Given the description of an element on the screen output the (x, y) to click on. 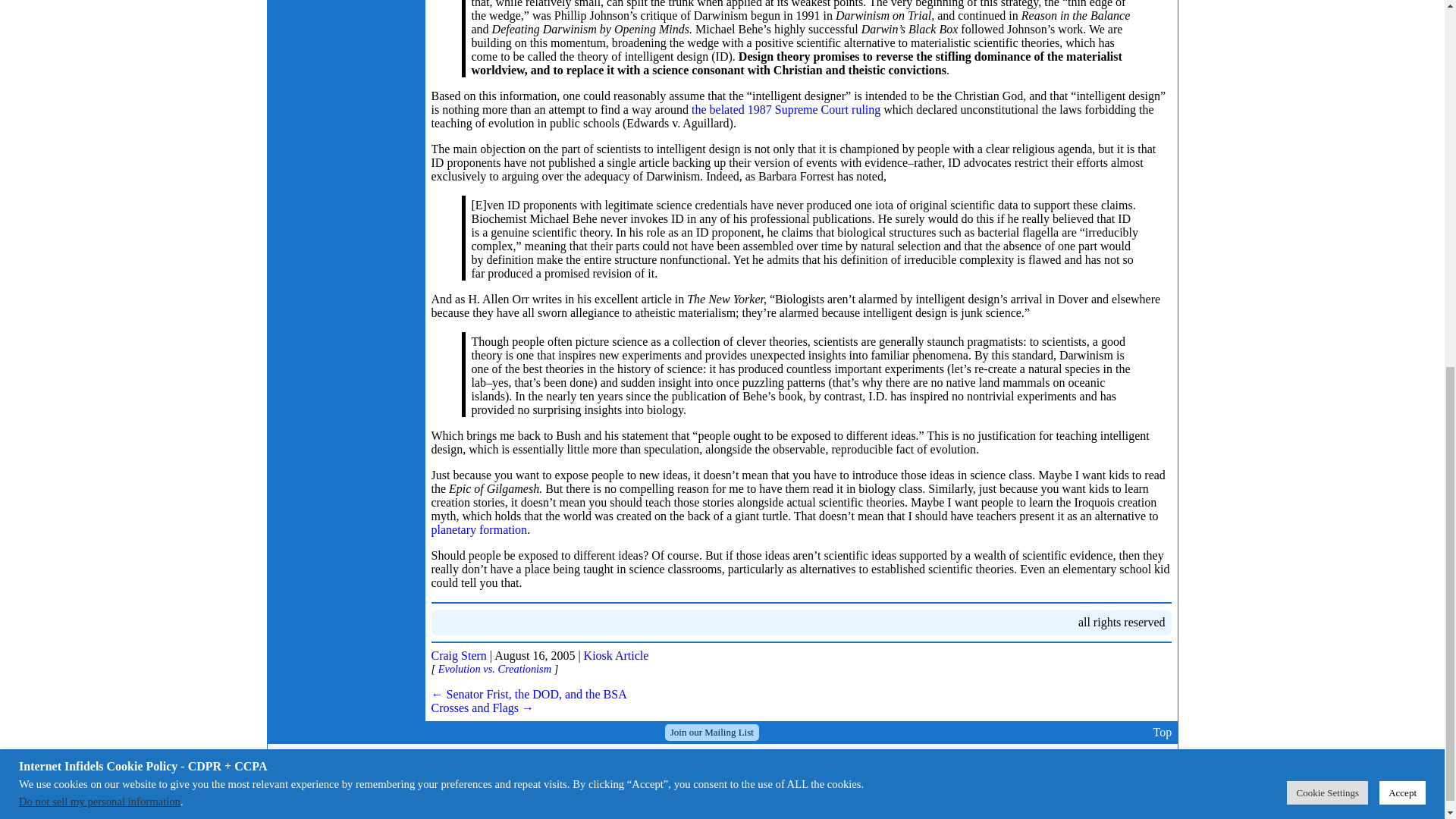
Posts by Craig Stern (458, 655)
